Given the description of an element on the screen output the (x, y) to click on. 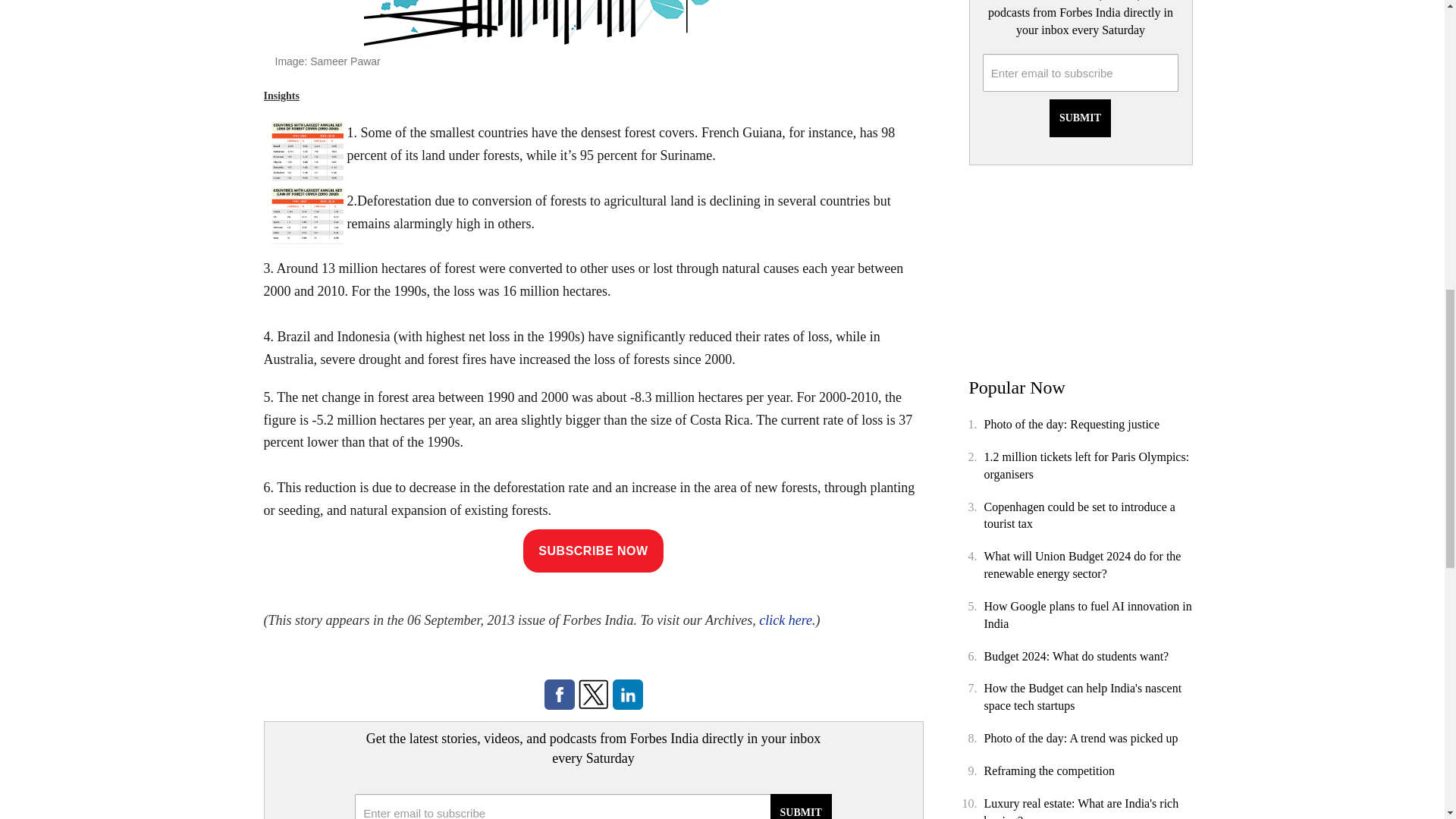
Measuring the Global Forest Cover (593, 22)
